Given the description of an element on the screen output the (x, y) to click on. 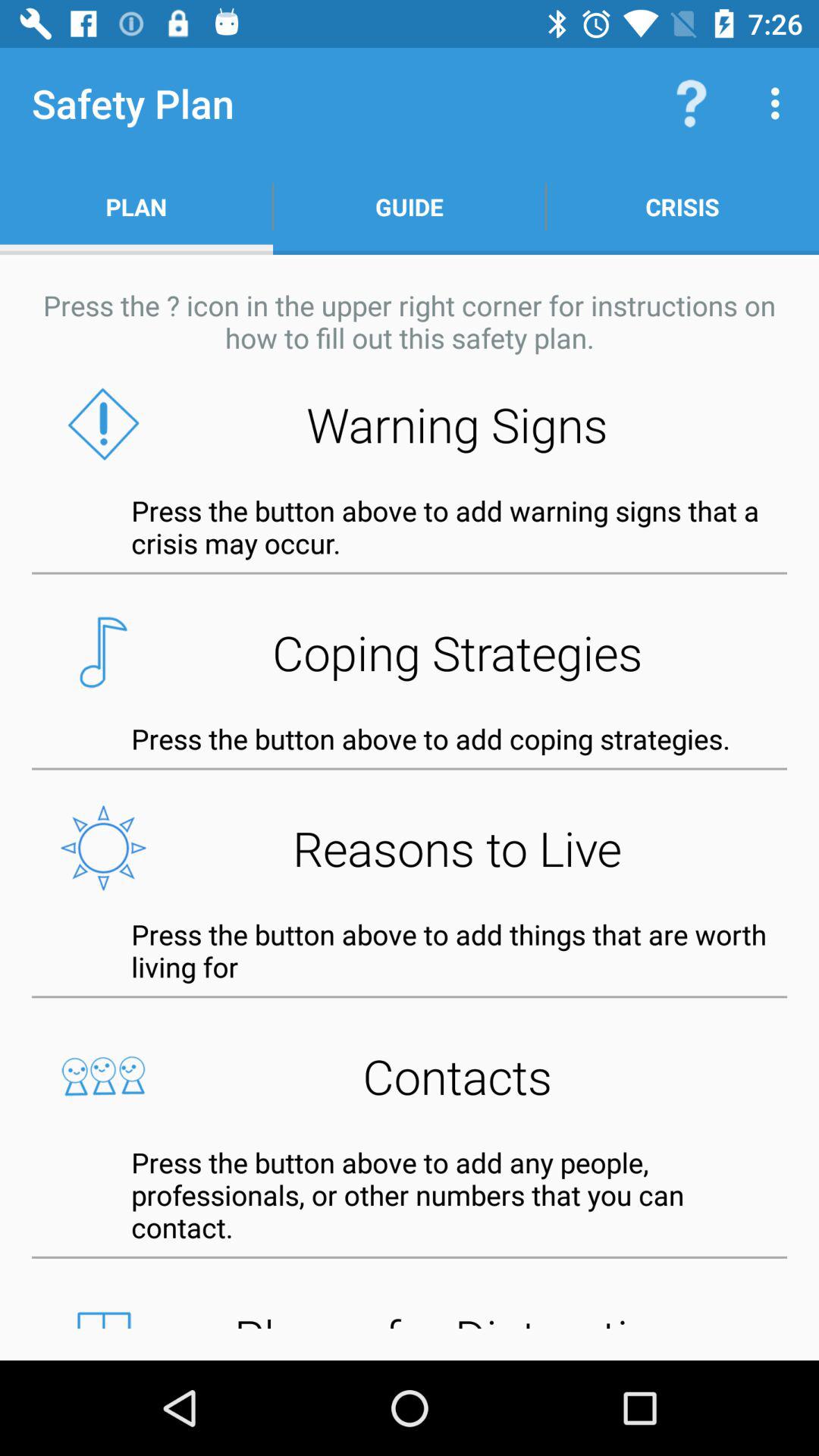
launch guide item (409, 206)
